Given the description of an element on the screen output the (x, y) to click on. 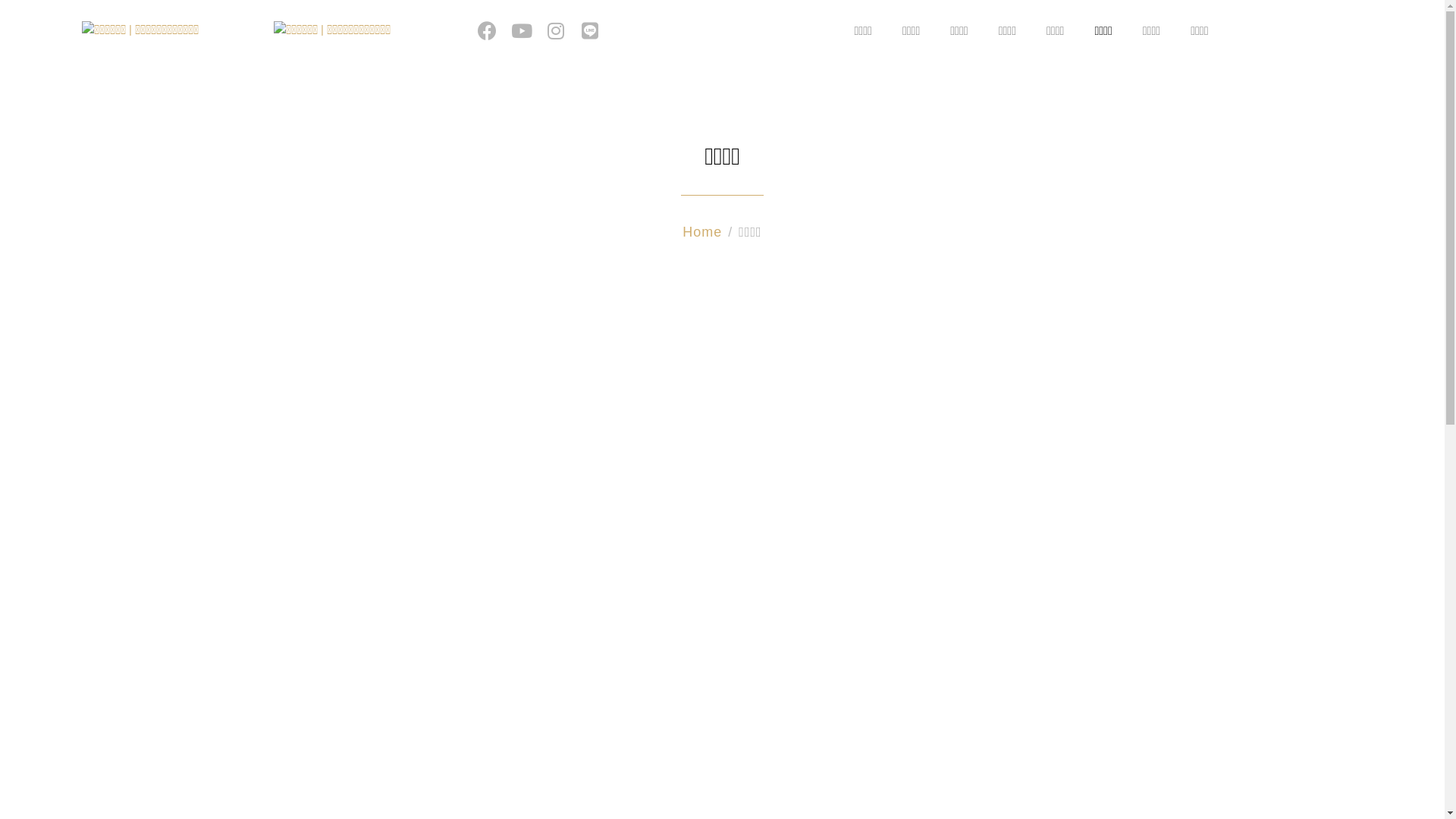
Home Element type: text (701, 231)
